Given the description of an element on the screen output the (x, y) to click on. 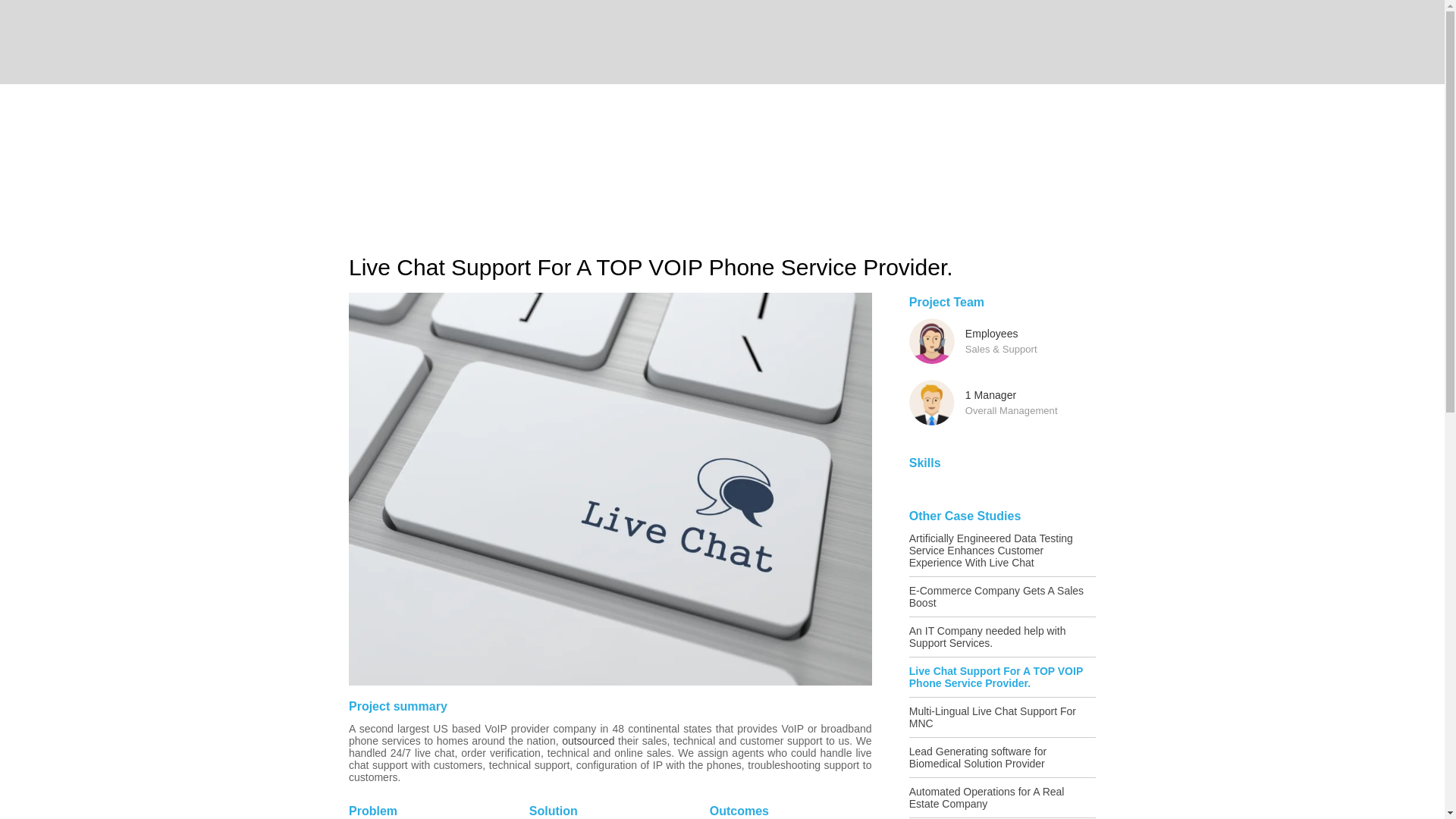
Multi-Lingual Live Chat Support For MNC (1002, 721)
outsourced (588, 740)
Automated Operations for A Real Estate Company (1002, 801)
Lead Generating software for Biomedical Solution Provider (1002, 761)
Live Chat Support For A TOP VOIP Phone Service Provider. (1002, 681)
An IT Company needed help with Support Services. (1002, 640)
E-Commerce Company Gets A Sales Boost (1002, 600)
